Given the description of an element on the screen output the (x, y) to click on. 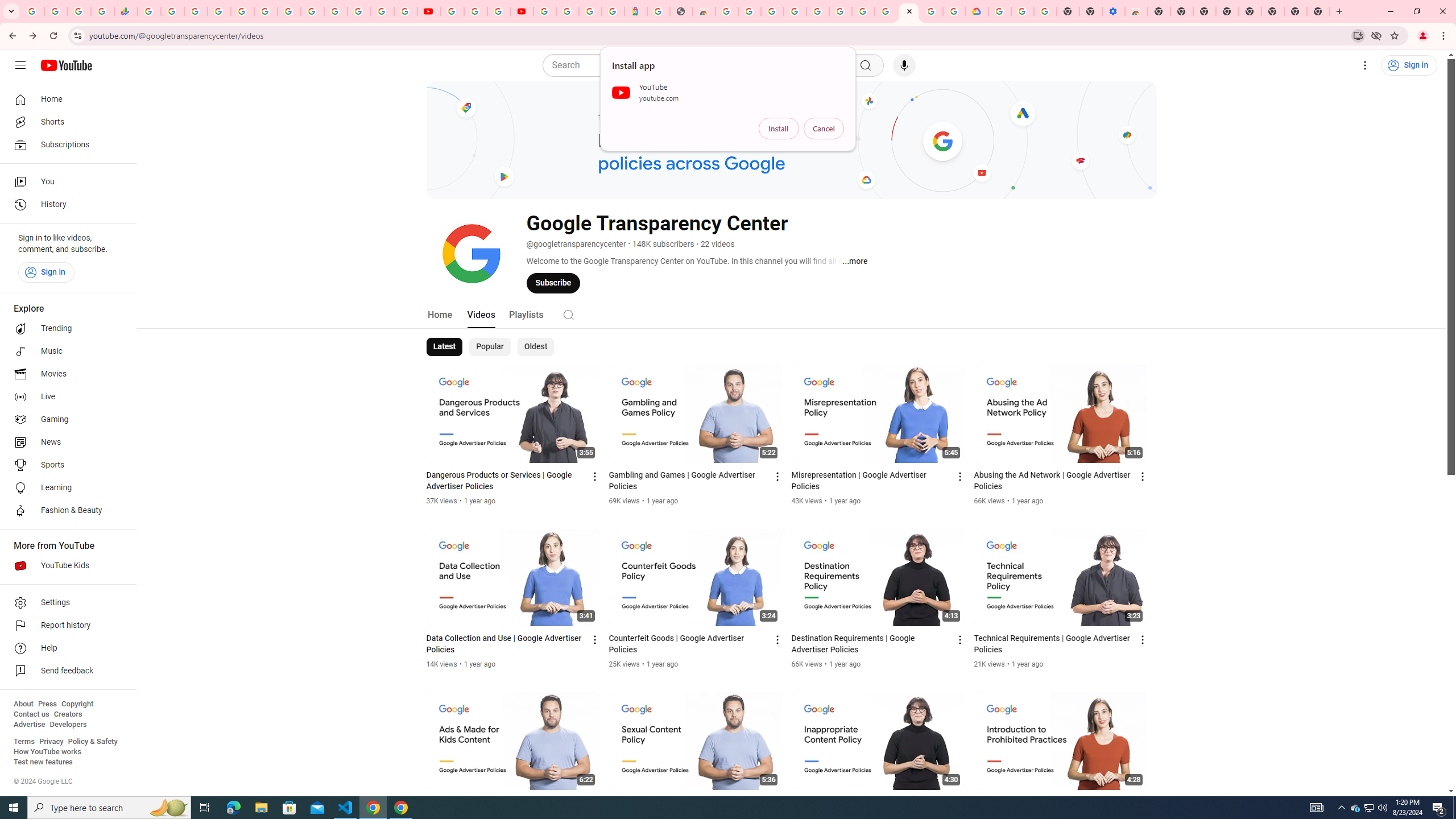
Chrome Web Store - Household (703, 11)
Videos (481, 314)
Chrome Web Store - Accessibility extensions (1136, 11)
Subscribe (552, 282)
Movies (64, 373)
Install YouTube (1358, 35)
Android TV Policies and Guidelines - Transparency Center (288, 11)
Latest (444, 346)
Turn cookies on or off - Computer - Google Account Help (1045, 11)
Help (64, 648)
